Given the description of an element on the screen output the (x, y) to click on. 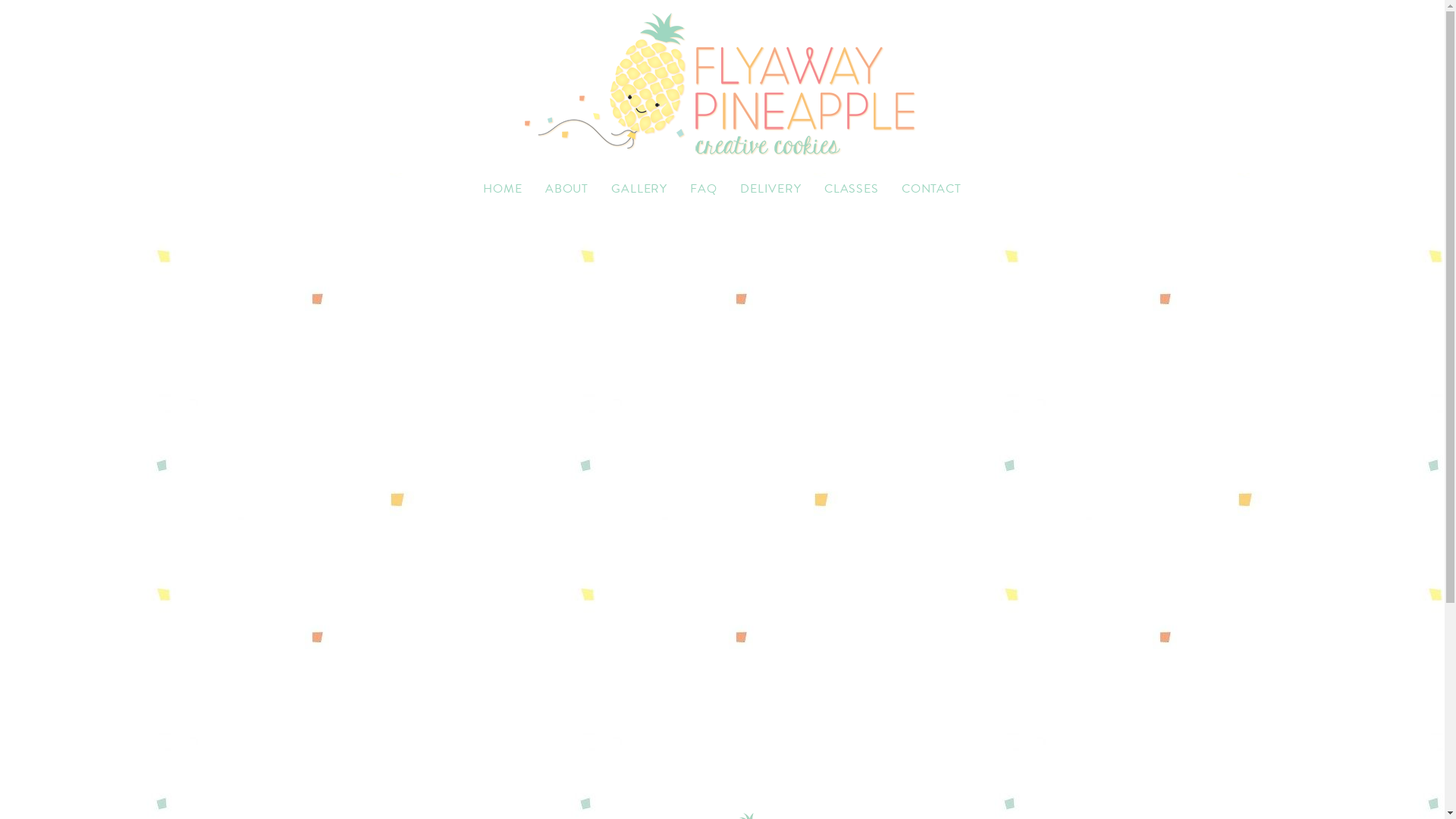
ABOUT Element type: text (566, 188)
DELIVERY Element type: text (770, 188)
HOME Element type: text (502, 188)
FAQ Element type: text (703, 188)
CONTACT Element type: text (931, 188)
GALLERY Element type: text (639, 188)
CLASSES Element type: text (851, 188)
Flyawaypineapple Element type: hover (722, 86)
